Given the description of an element on the screen output the (x, y) to click on. 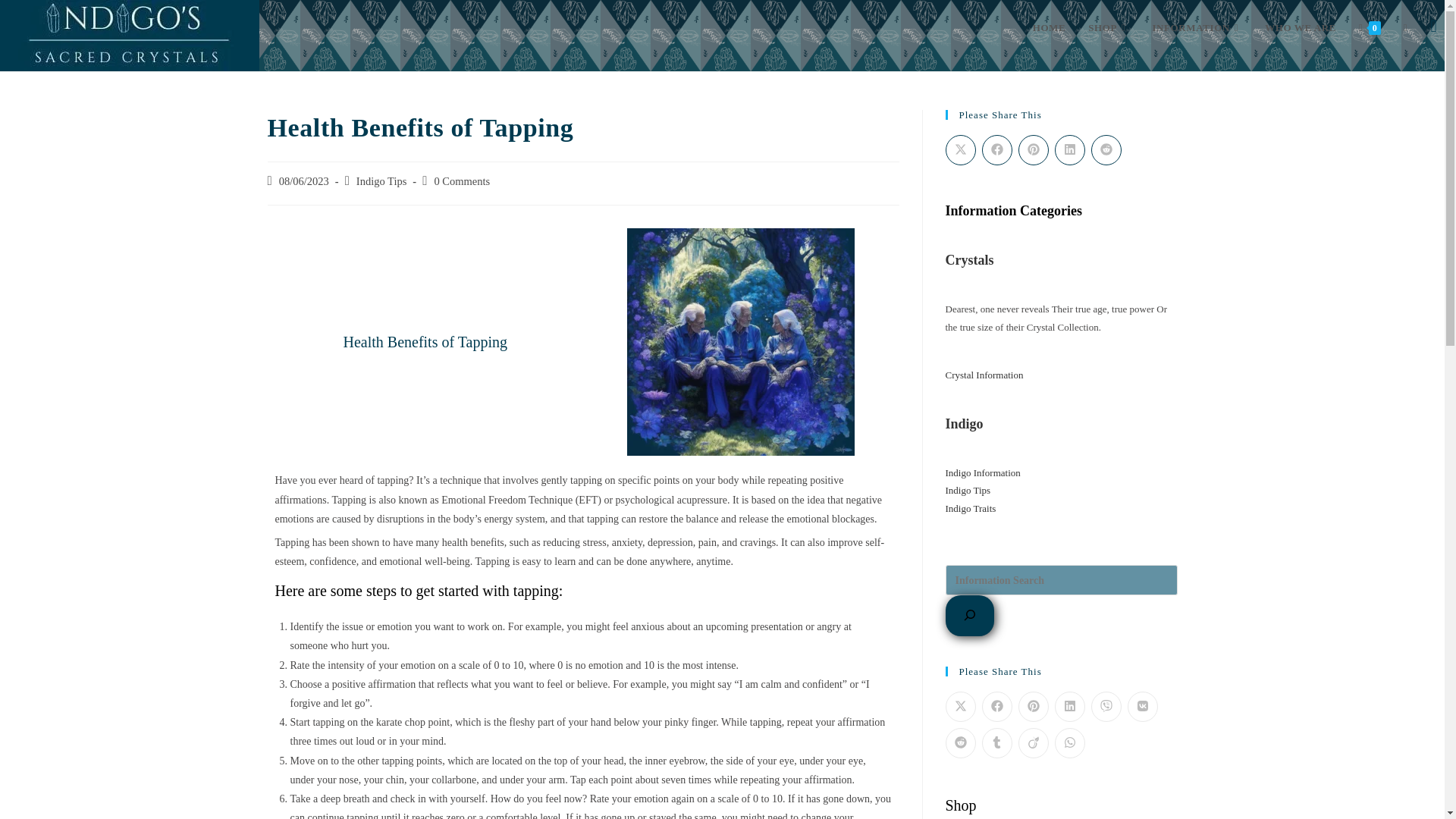
Share on Facebook (996, 150)
WHO WE ARE (1300, 28)
0 Comments (461, 181)
Share on X (959, 150)
Share on LinkedIn (1069, 706)
Share on Viber (1105, 706)
Share on LinkedIn (1069, 150)
Share on Pinterest (1032, 150)
SHOP (1108, 28)
Share on VK (1141, 706)
